Given the description of an element on the screen output the (x, y) to click on. 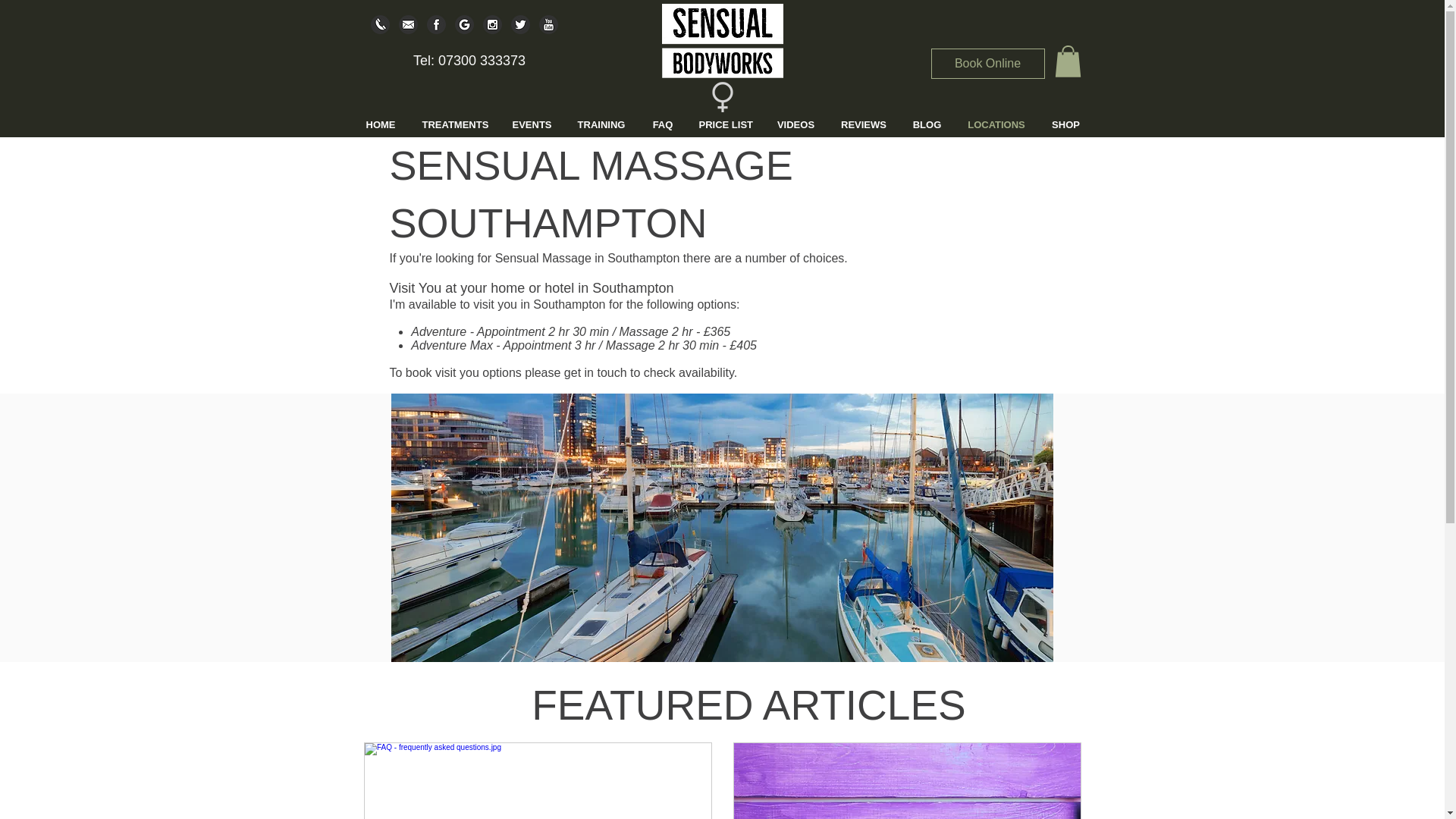
FAQ (663, 124)
VIDEOS (795, 124)
PRICE LIST (724, 124)
TRAINING (600, 124)
TREATMENTS (454, 124)
Book Online (988, 63)
HOME (380, 124)
REVIEWS (863, 124)
